Given the description of an element on the screen output the (x, y) to click on. 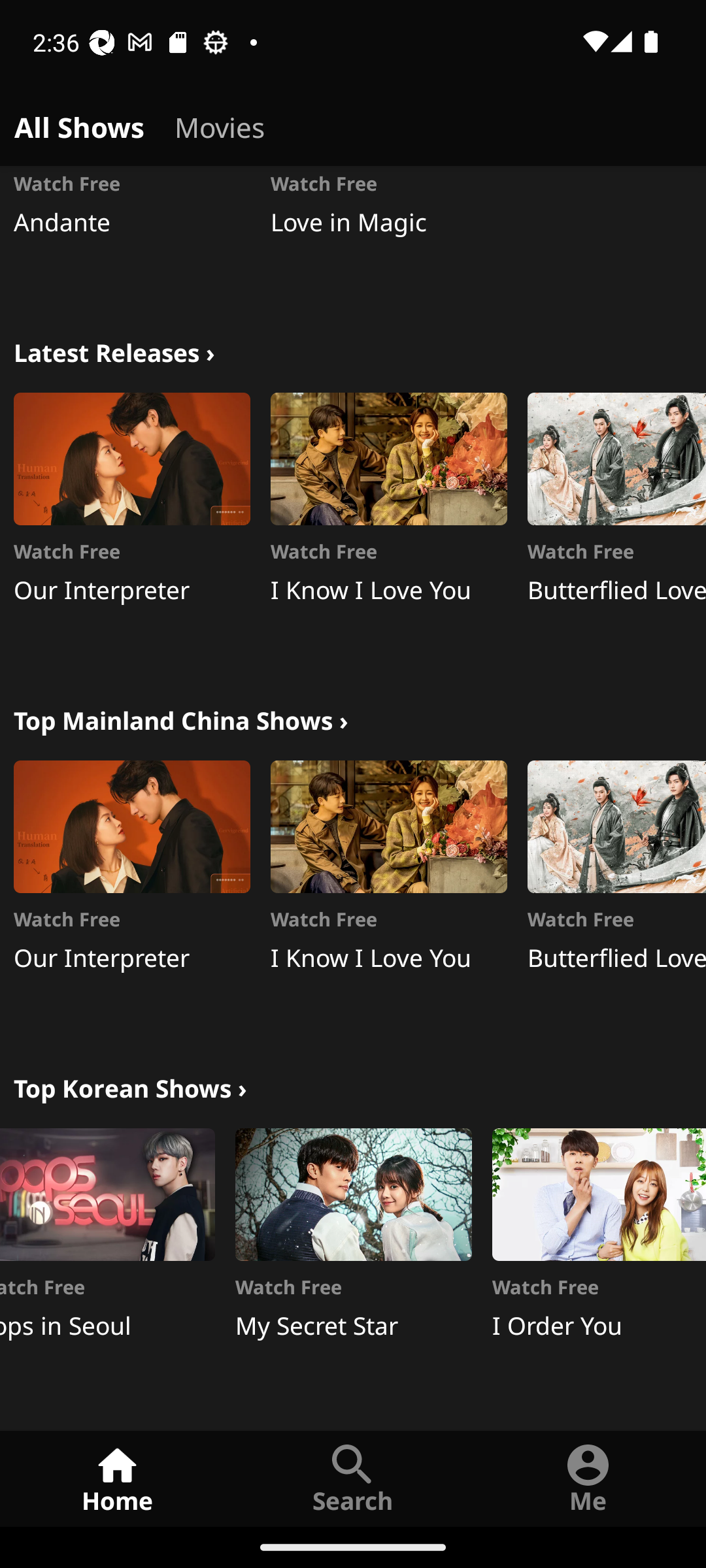
home_tab_movies Movies (219, 124)
resource_cell Watch Free Andante (131, 233)
resource_cell Watch Free Love in Magic (388, 233)
Latest Releases › all_new (114, 350)
Top Mainland China Shows › china_trending (180, 718)
Top Korean Shows › korean_trending (130, 1085)
Search (352, 1478)
Me (588, 1478)
